Given the description of an element on the screen output the (x, y) to click on. 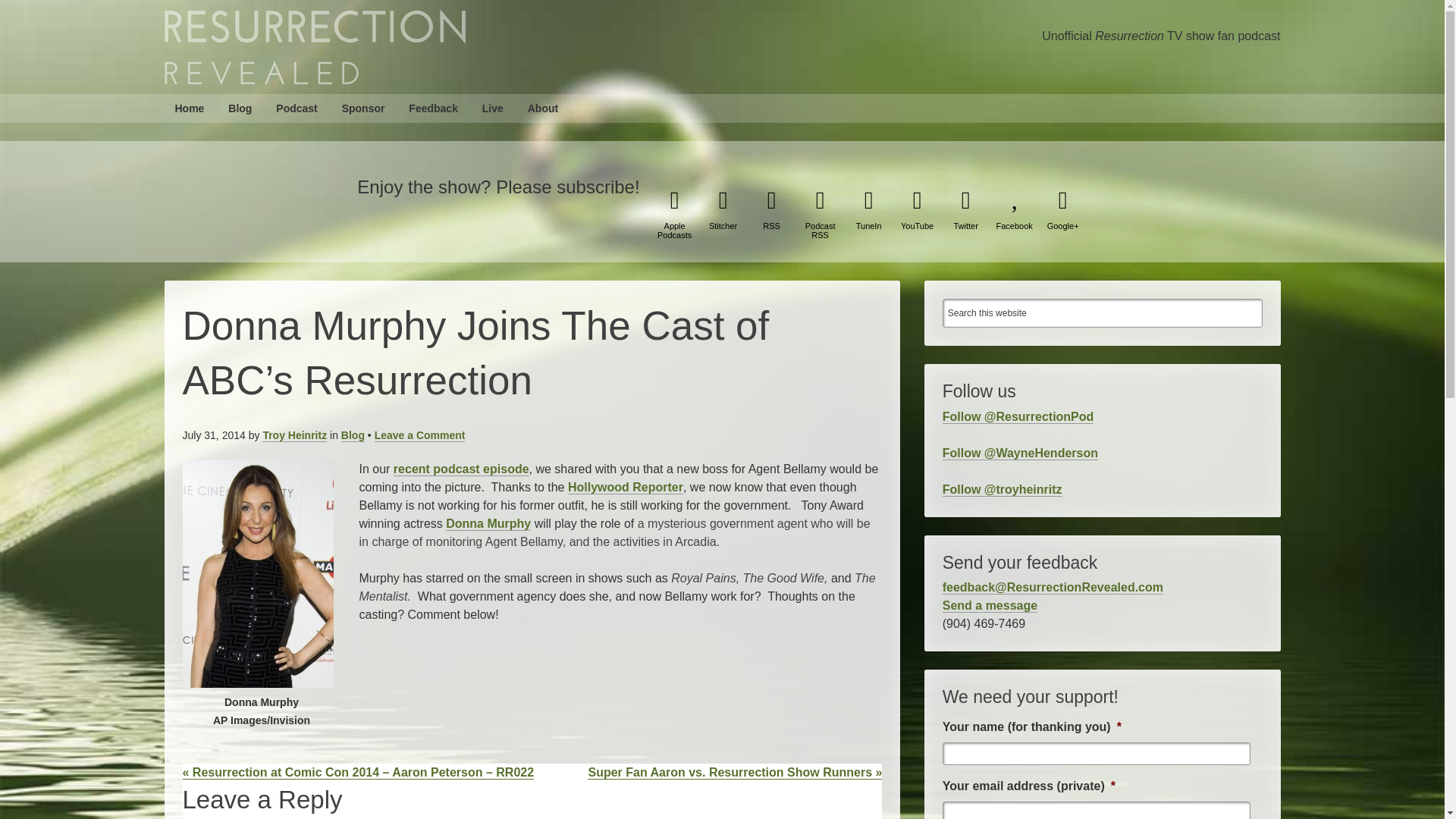
Send a message (989, 605)
Leave a Comment (419, 435)
Donna Murphy (488, 523)
Resurrection Revealed (313, 47)
Home (188, 108)
Hollywood Reporter (624, 487)
Podcast (295, 108)
recent podcast episode (461, 468)
Blog (352, 435)
